Given the description of an element on the screen output the (x, y) to click on. 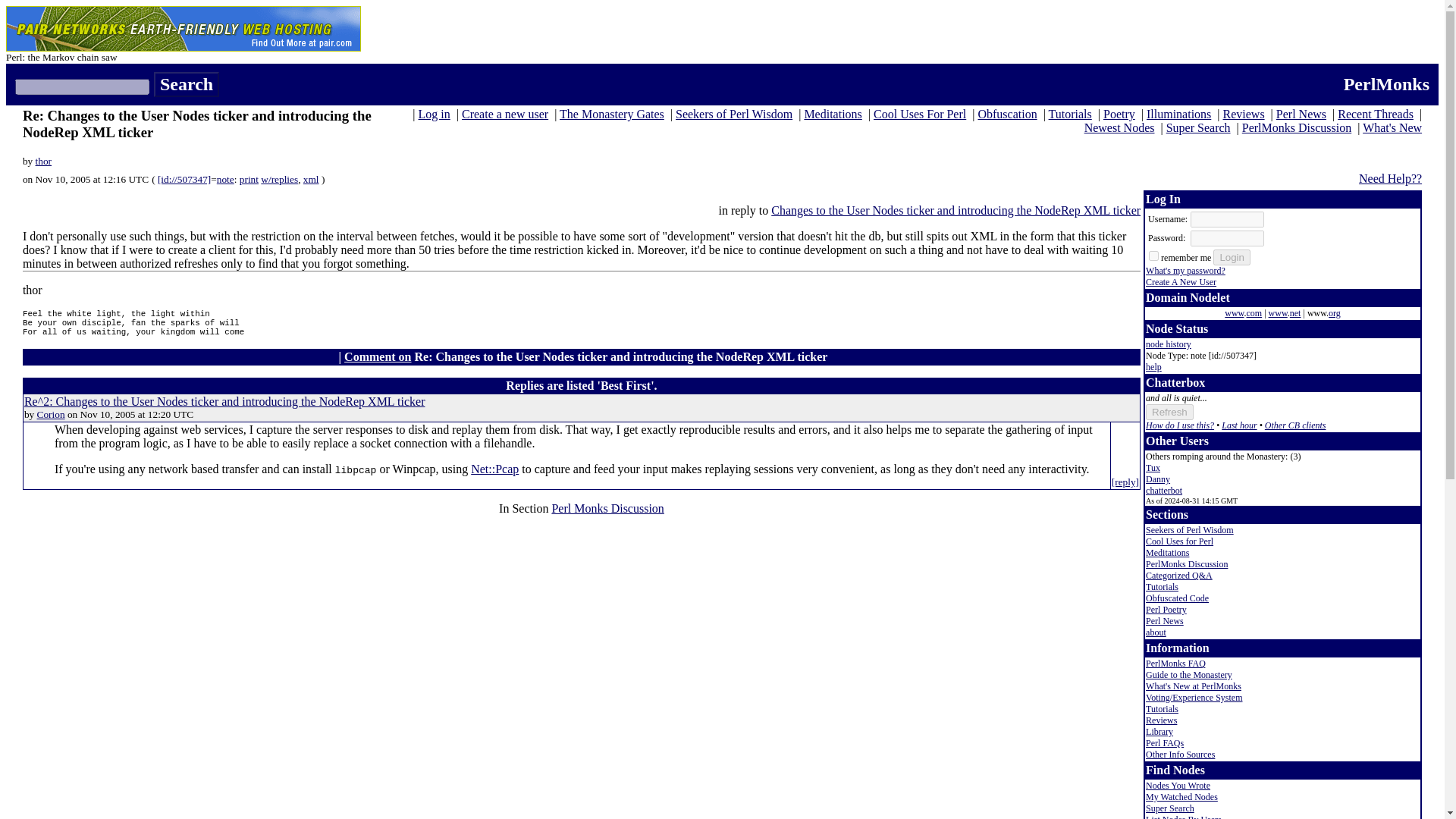
Need Help?? (1390, 178)
print (249, 179)
Cool Uses For Perl (919, 113)
Meditations (832, 113)
Create a new user (504, 113)
Tux's home node. Level 20 (1152, 467)
Net::Pcap (494, 468)
PerlMonks Discussion (1296, 127)
Create A New User (1180, 281)
The Monastery Gates (611, 113)
